Given the description of an element on the screen output the (x, y) to click on. 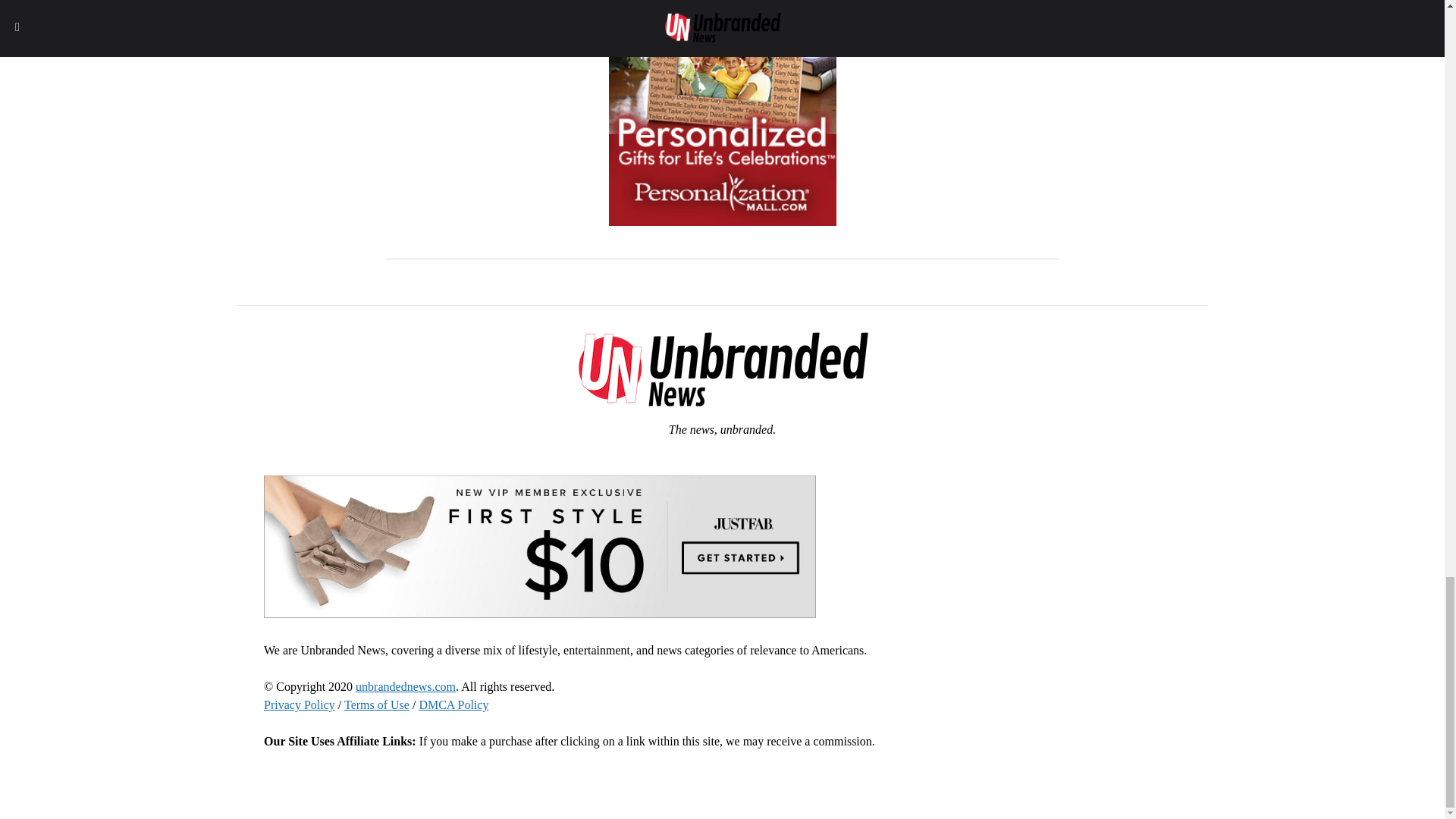
unbrandednews.com (405, 686)
Privacy Policy (298, 704)
DMCA Policy (453, 704)
Terms of Use (376, 704)
